Given the description of an element on the screen output the (x, y) to click on. 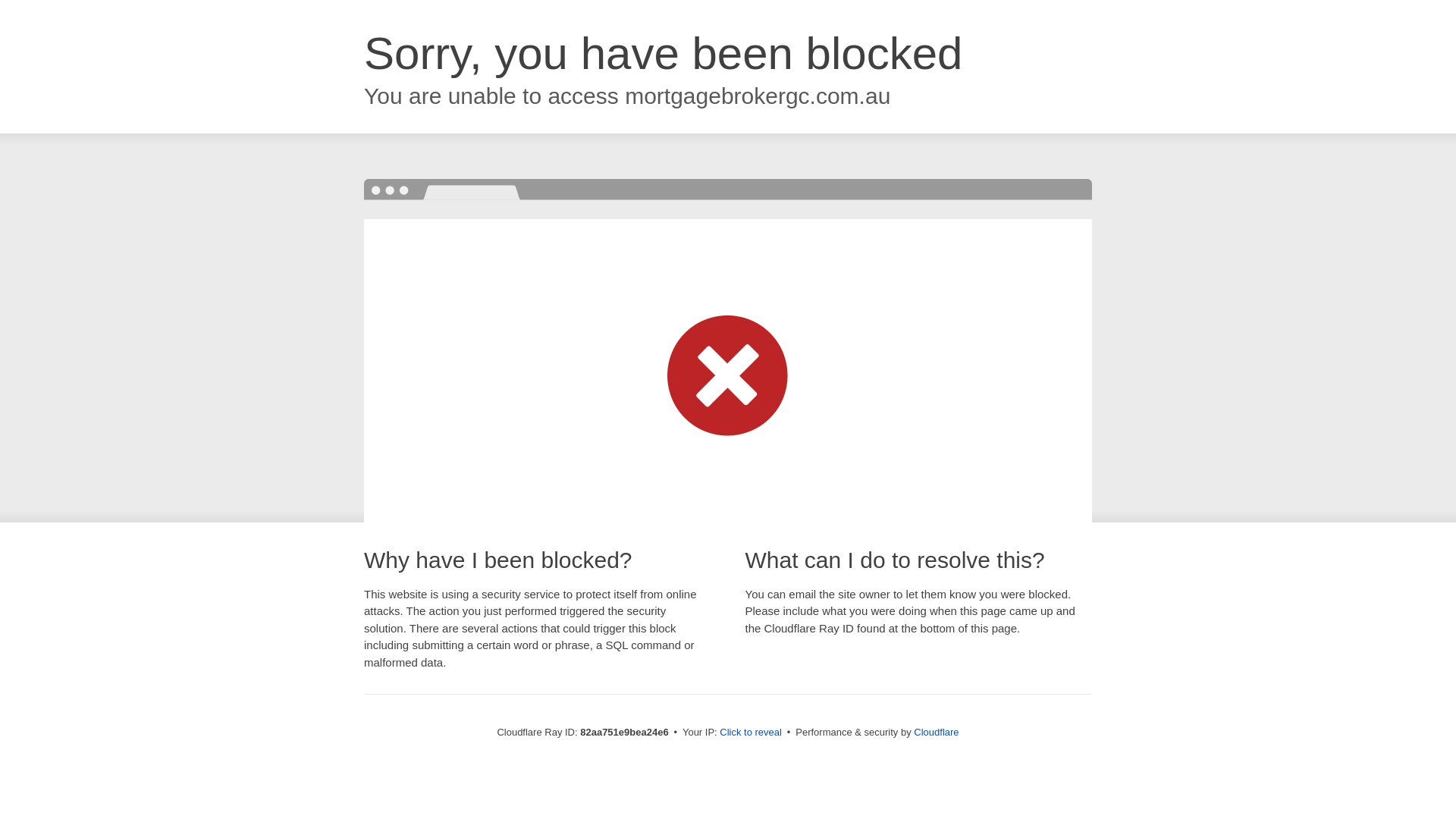
Cloudflare Element type: text (935, 731)
Click to reveal Element type: text (750, 732)
